Given the description of an element on the screen output the (x, y) to click on. 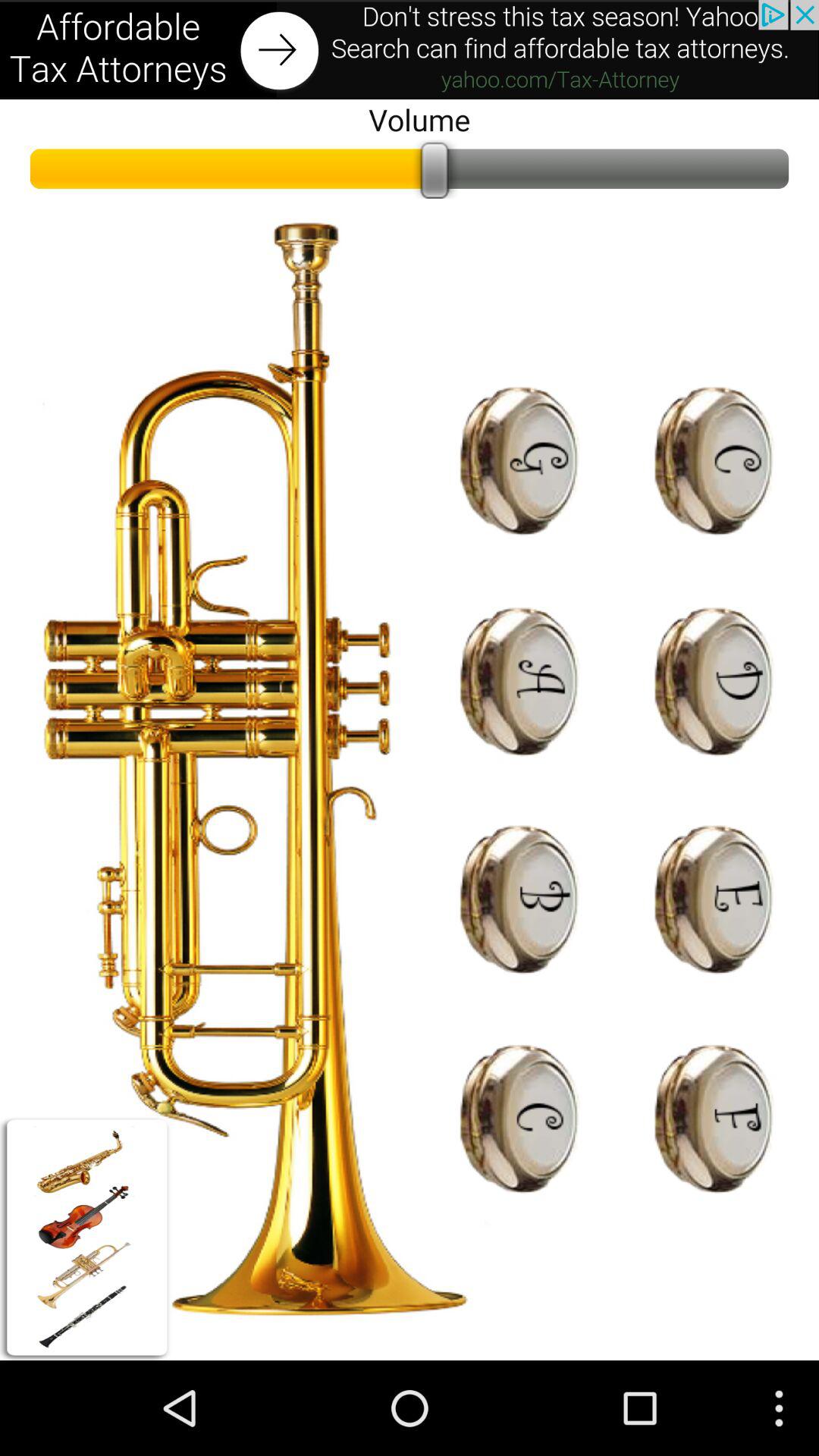
advertisement (409, 49)
